Given the description of an element on the screen output the (x, y) to click on. 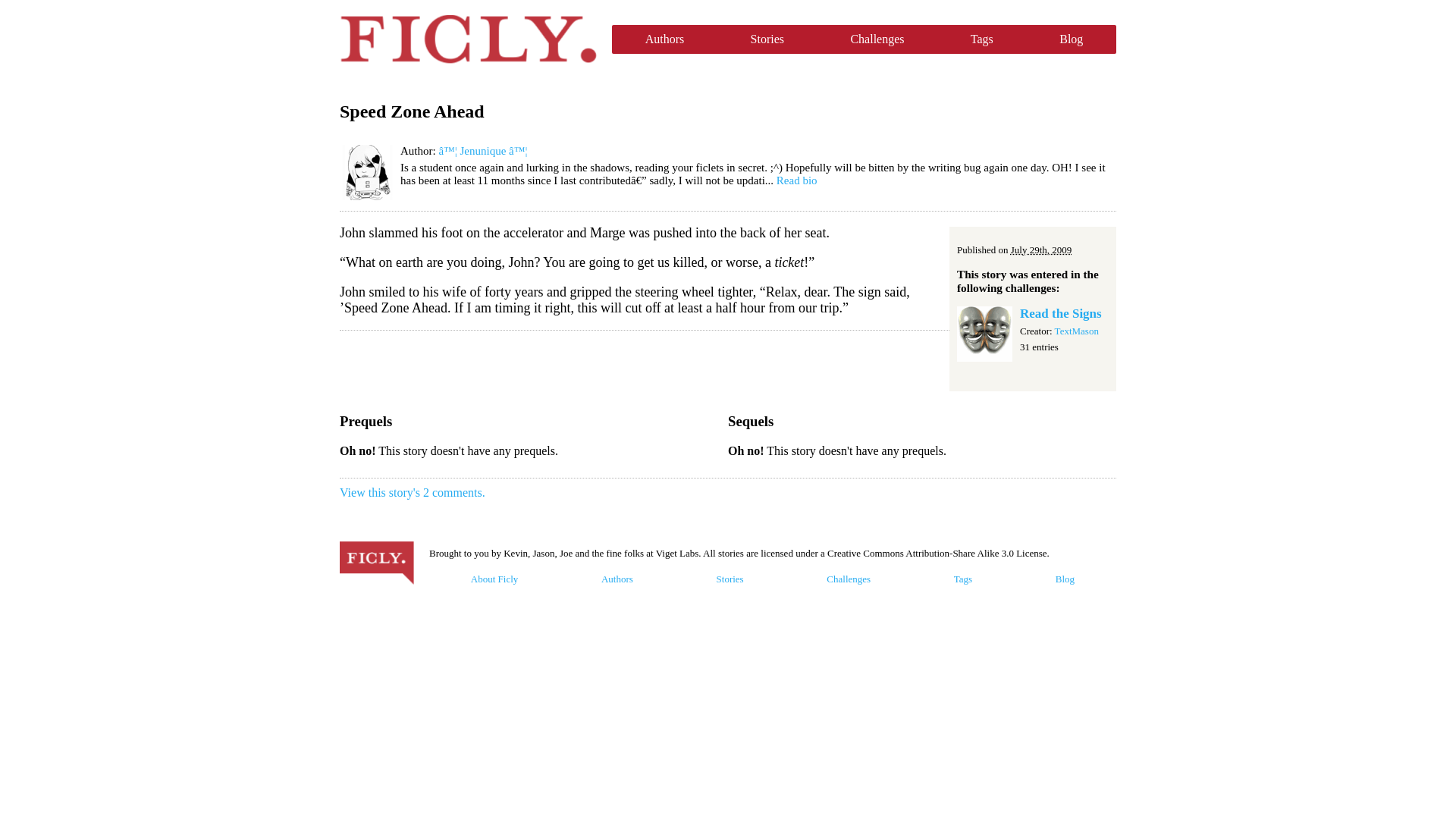
Stories (766, 39)
Read bio (796, 180)
Challenges (876, 39)
Ficly (467, 39)
2009-07-29 20:18:02 UTC (1040, 249)
Blog (1071, 39)
Authors (664, 39)
Read the Signs (1061, 313)
Tags (981, 39)
TextMason (1076, 330)
View this story's 2 comments. (411, 492)
